Given the description of an element on the screen output the (x, y) to click on. 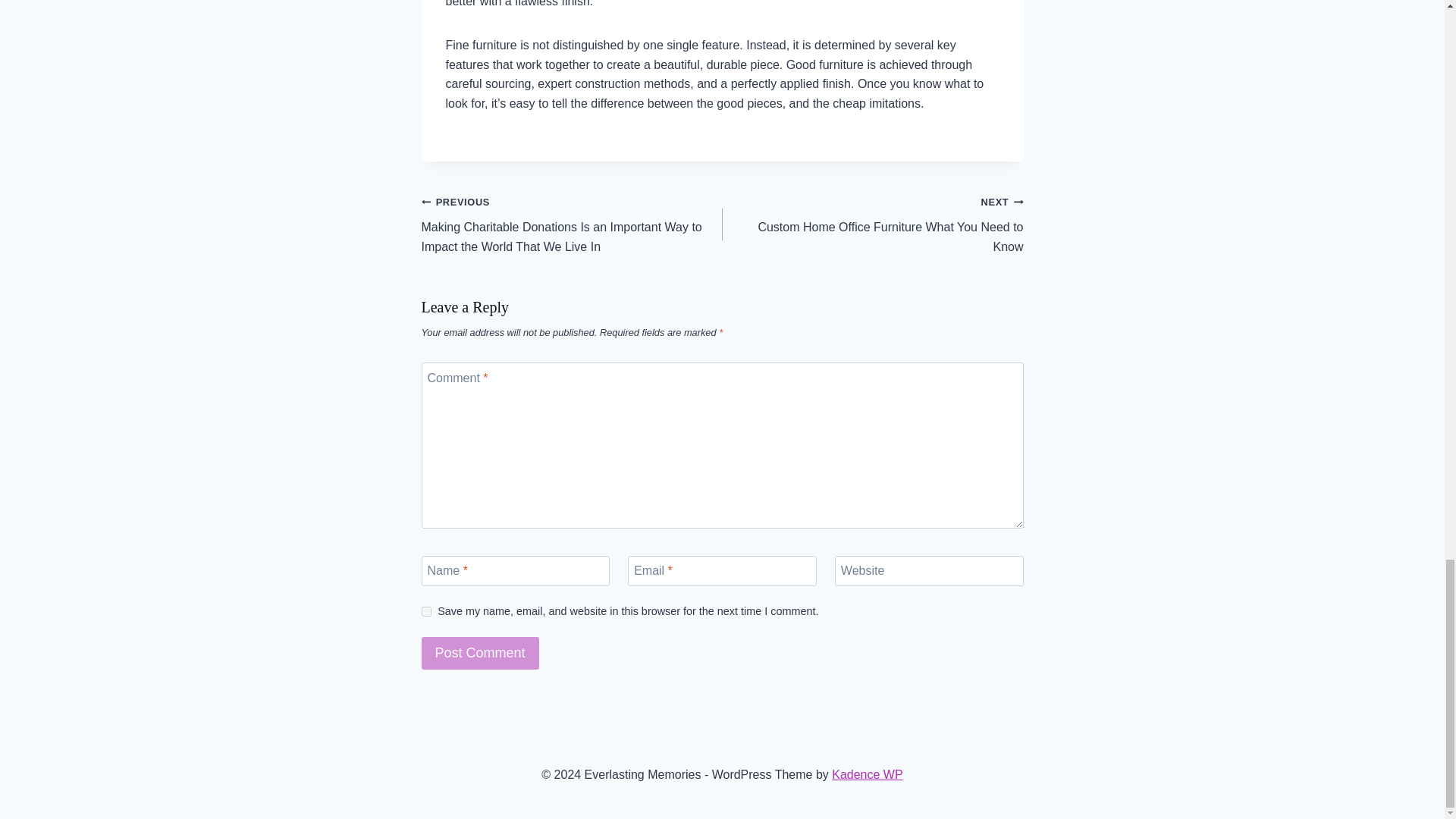
Kadence WP (872, 223)
Post Comment (866, 774)
Post Comment (480, 653)
yes (480, 653)
